Given the description of an element on the screen output the (x, y) to click on. 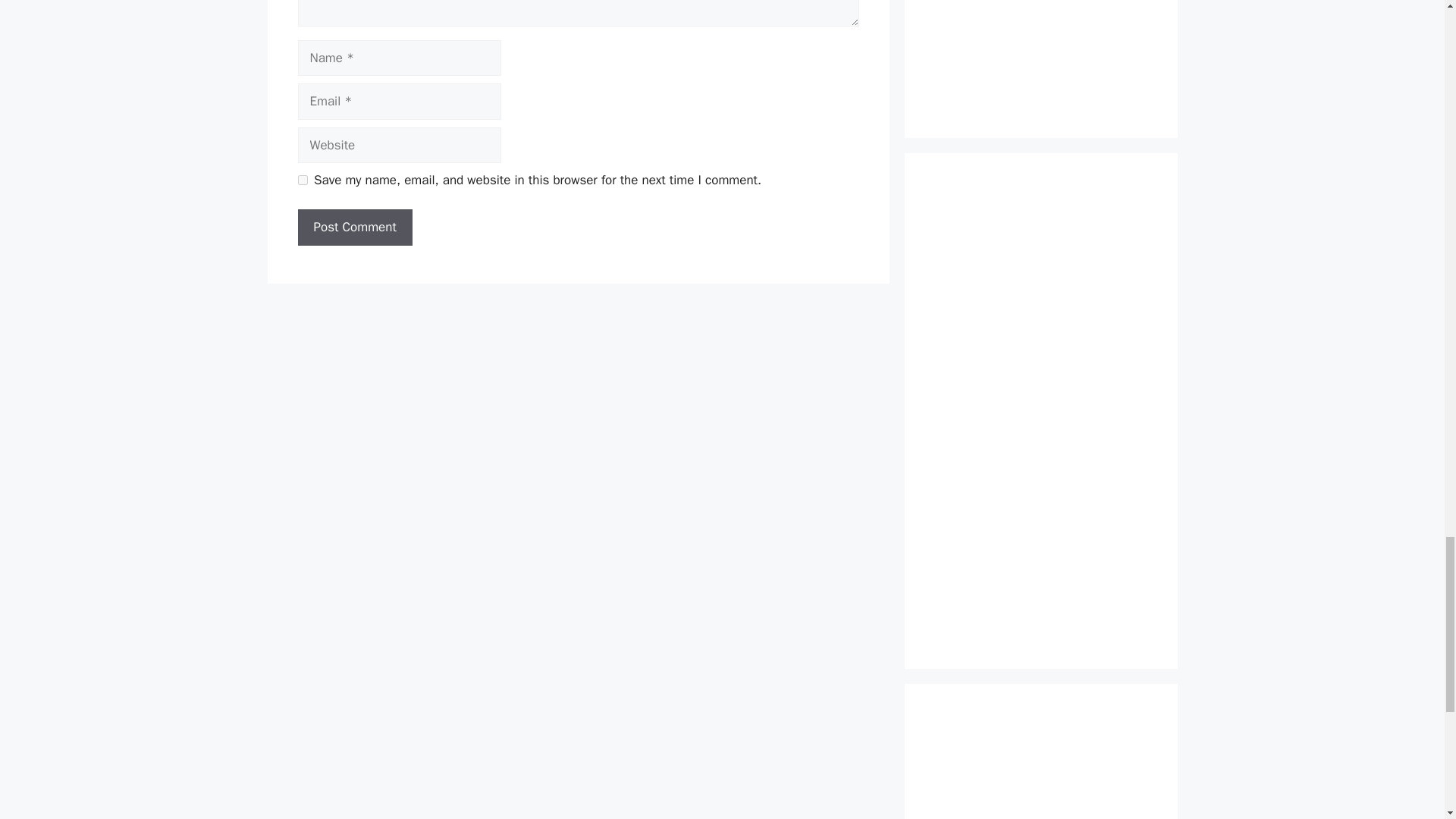
Post Comment (354, 227)
Advertisement (1040, 53)
Advertisement (1040, 766)
Post Comment (354, 227)
yes (302, 180)
